Given the description of an element on the screen output the (x, y) to click on. 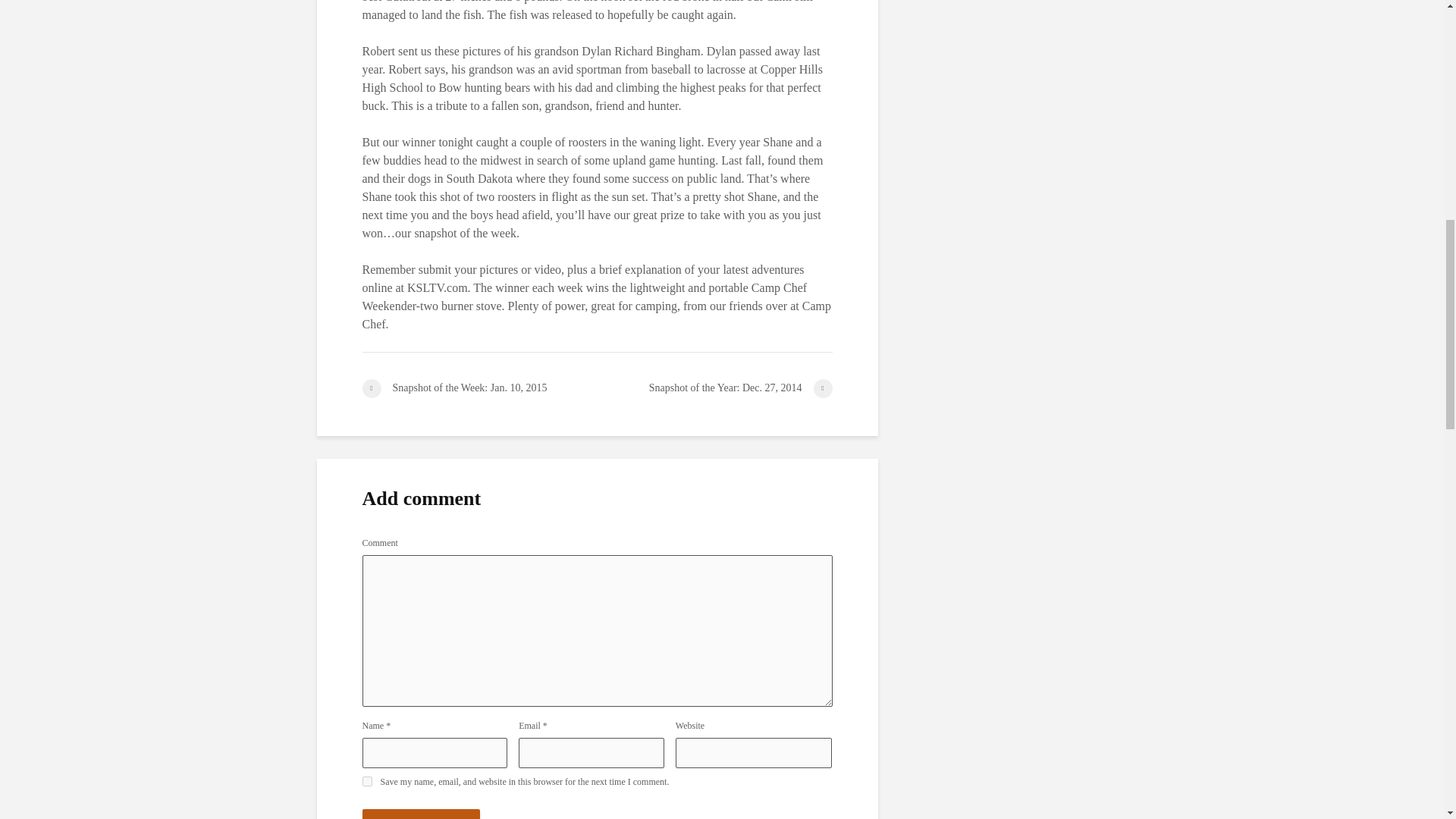
Snapshot of the Year: Dec. 27, 2014 (714, 388)
Submit Comment (421, 814)
Snapshot of the Week: Jan. 10, 2015 (479, 388)
yes (367, 781)
Submit Comment (421, 814)
